Given the description of an element on the screen output the (x, y) to click on. 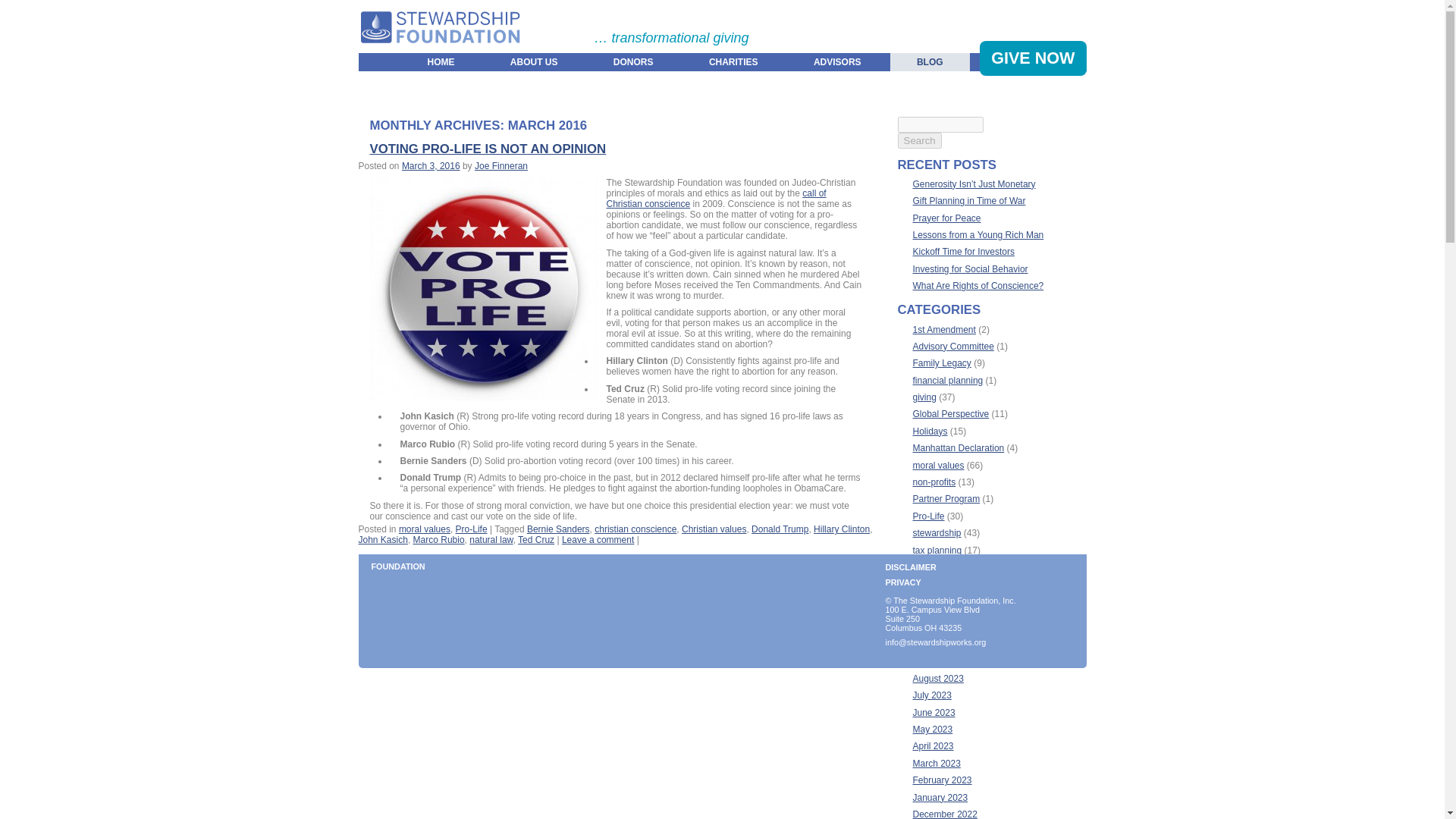
Christian values (713, 529)
HOME (441, 61)
Marco Rubio (438, 539)
Leave a comment (597, 539)
3:35 pm (430, 165)
Donald Trump (779, 529)
Manhattan Declaration (958, 448)
Search (920, 140)
Hillary Clinton (841, 529)
Advisory Committee (953, 346)
